Given the description of an element on the screen output the (x, y) to click on. 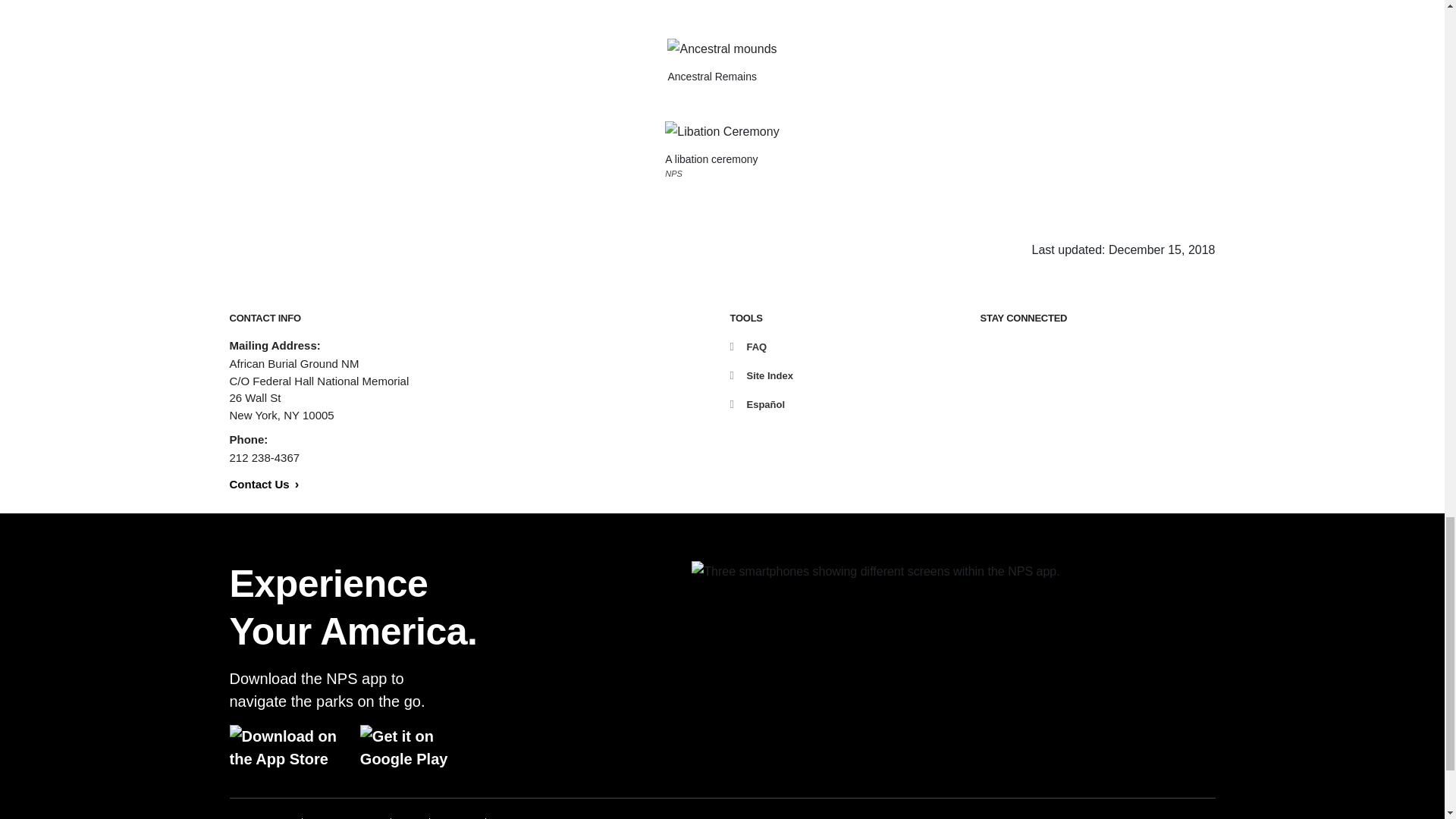
ACCESSIBILITY (260, 818)
FOIA (410, 818)
Ancestral mounds (721, 48)
Site Index (760, 375)
National Park Service (1099, 816)
The pouring of libation (721, 131)
FAQ (748, 346)
Contact Us (263, 483)
PRIVACY POLICY (346, 818)
